Given the description of an element on the screen output the (x, y) to click on. 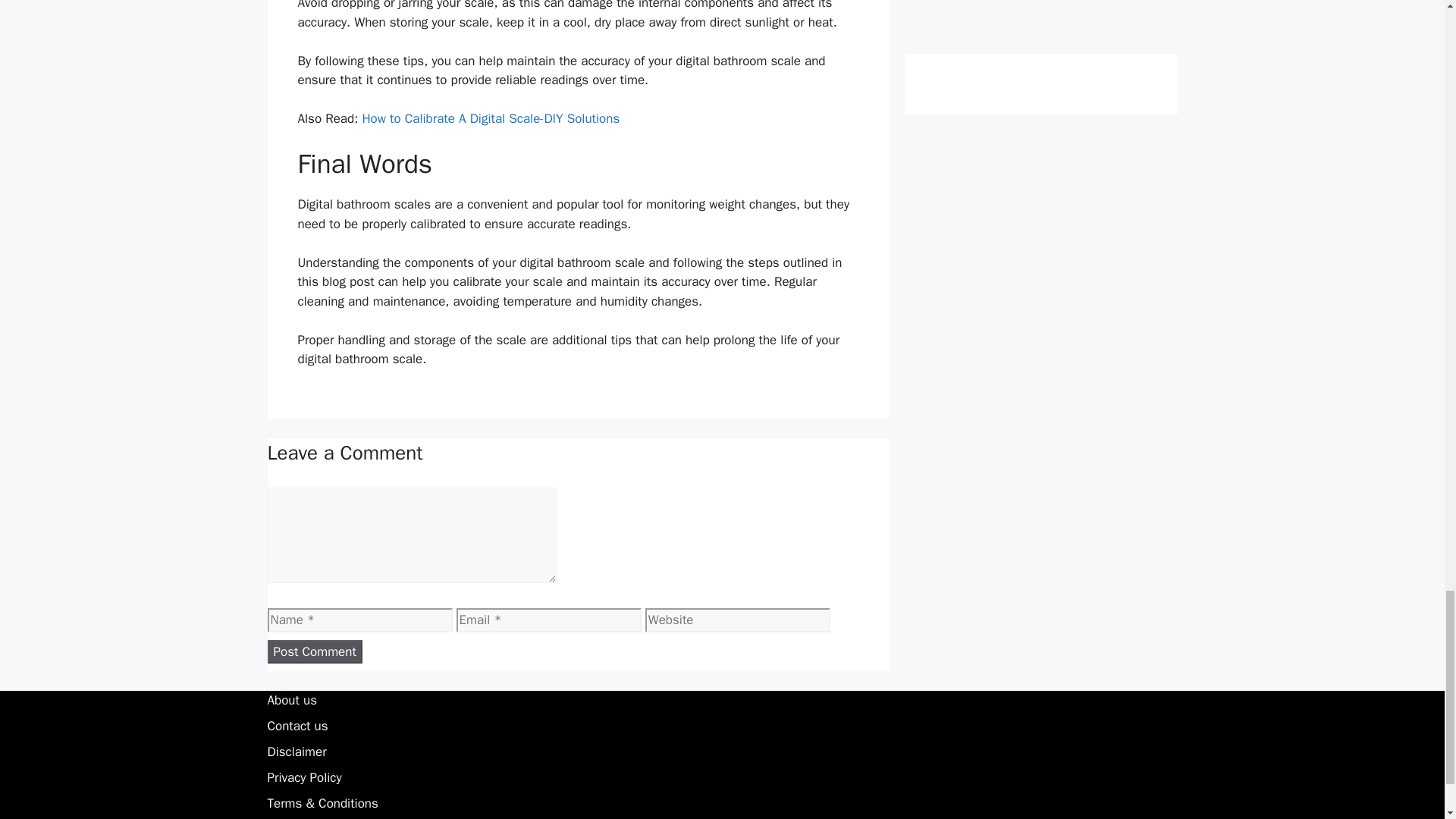
Privacy Policy (303, 777)
How to Calibrate A Digital Scale-DIY Solutions (490, 118)
About us (291, 700)
Post Comment (313, 651)
Disclaimer (296, 751)
Contact us (296, 725)
Post Comment (313, 651)
